Given the description of an element on the screen output the (x, y) to click on. 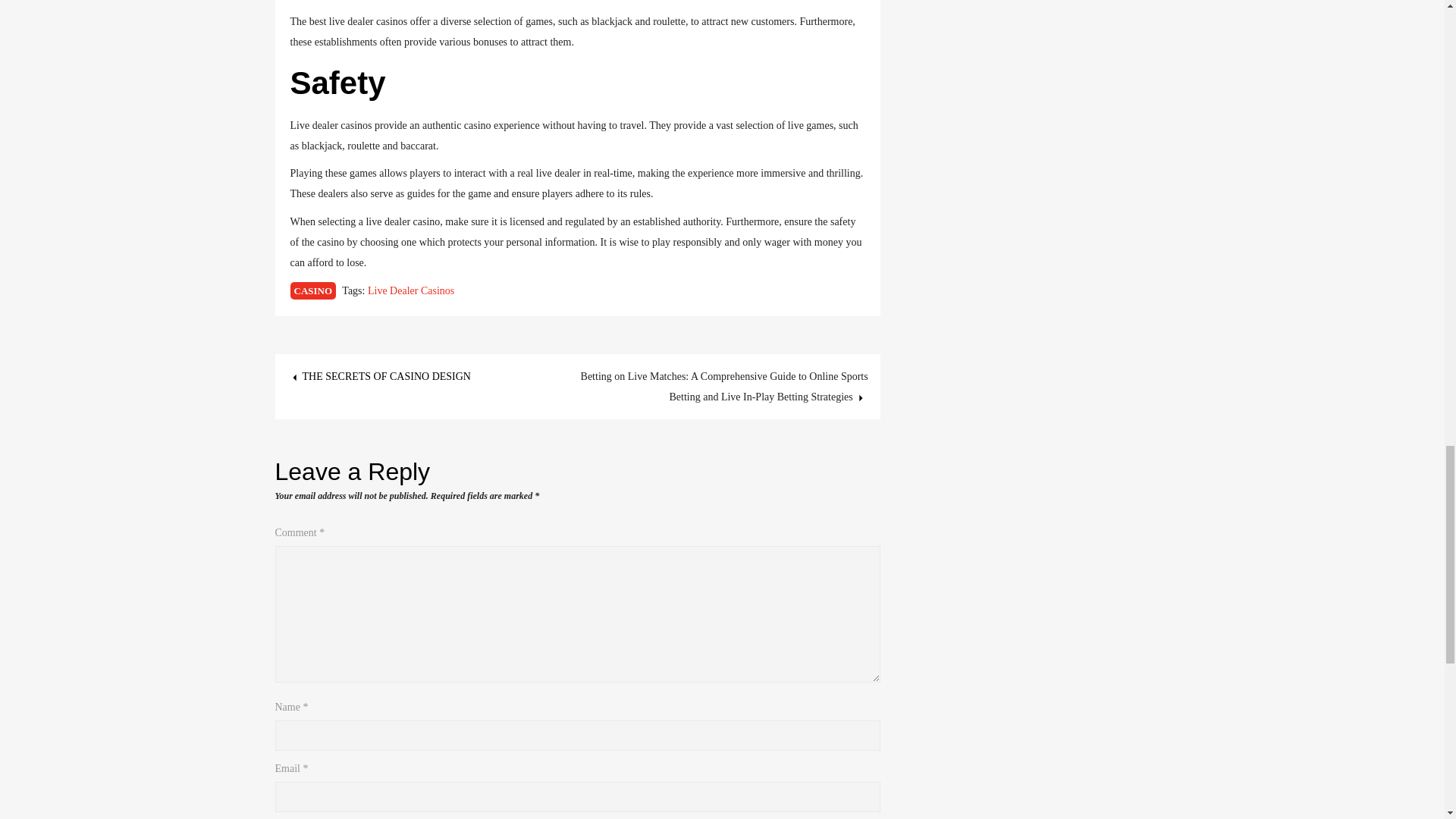
CASINO (312, 290)
Live Dealer Casinos (411, 290)
THE SECRETS OF CASINO DESIGN (378, 376)
